Given the description of an element on the screen output the (x, y) to click on. 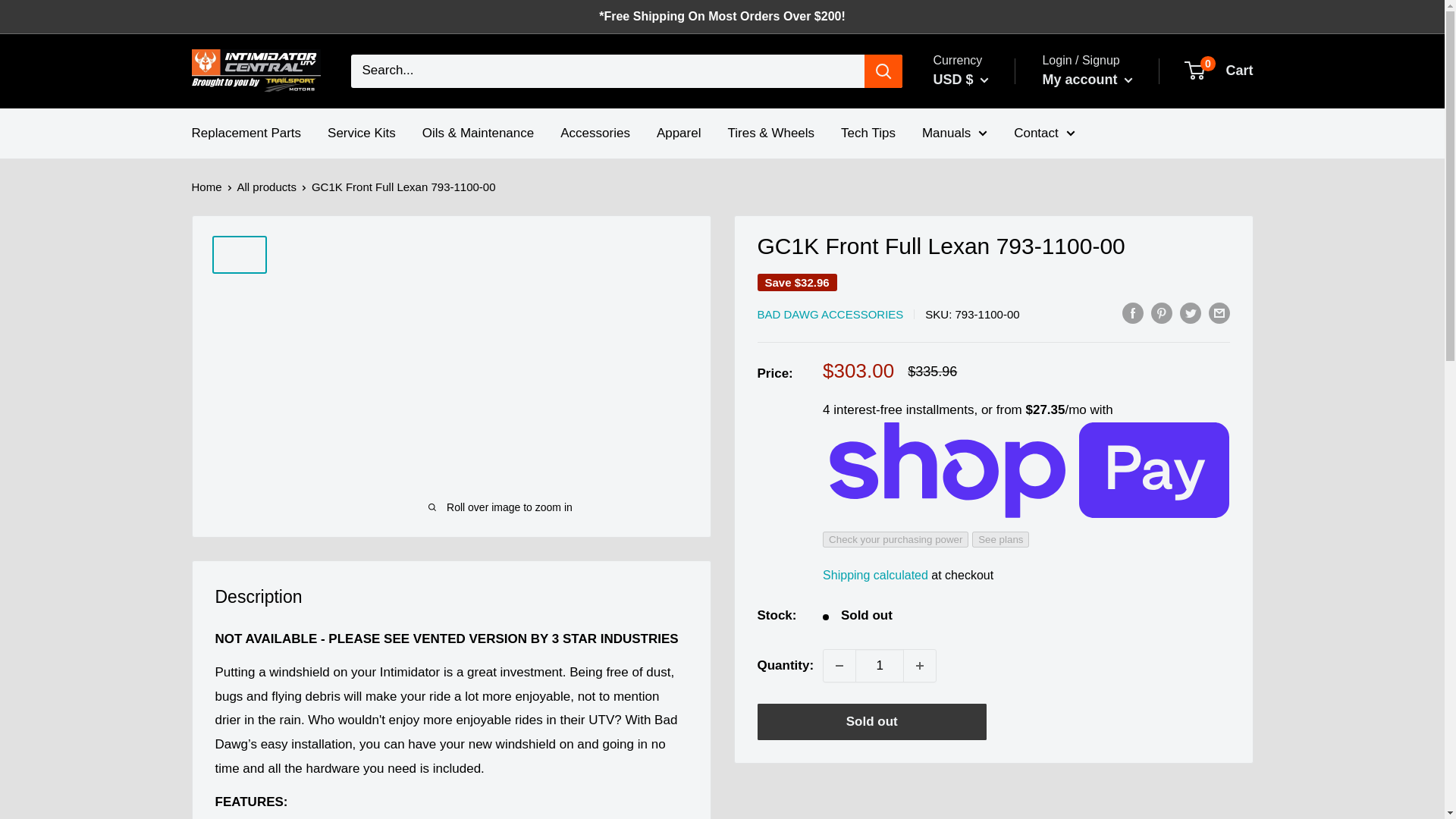
My account (1087, 80)
EUR (1219, 71)
1 (972, 178)
CAD (880, 665)
Intimidator UTV Central (972, 153)
GBP (255, 71)
NZD (972, 203)
USD (972, 251)
JMD (972, 275)
Decrease quantity by 1 (972, 226)
AUD (840, 665)
Increase quantity by 1 (972, 129)
